Given the description of an element on the screen output the (x, y) to click on. 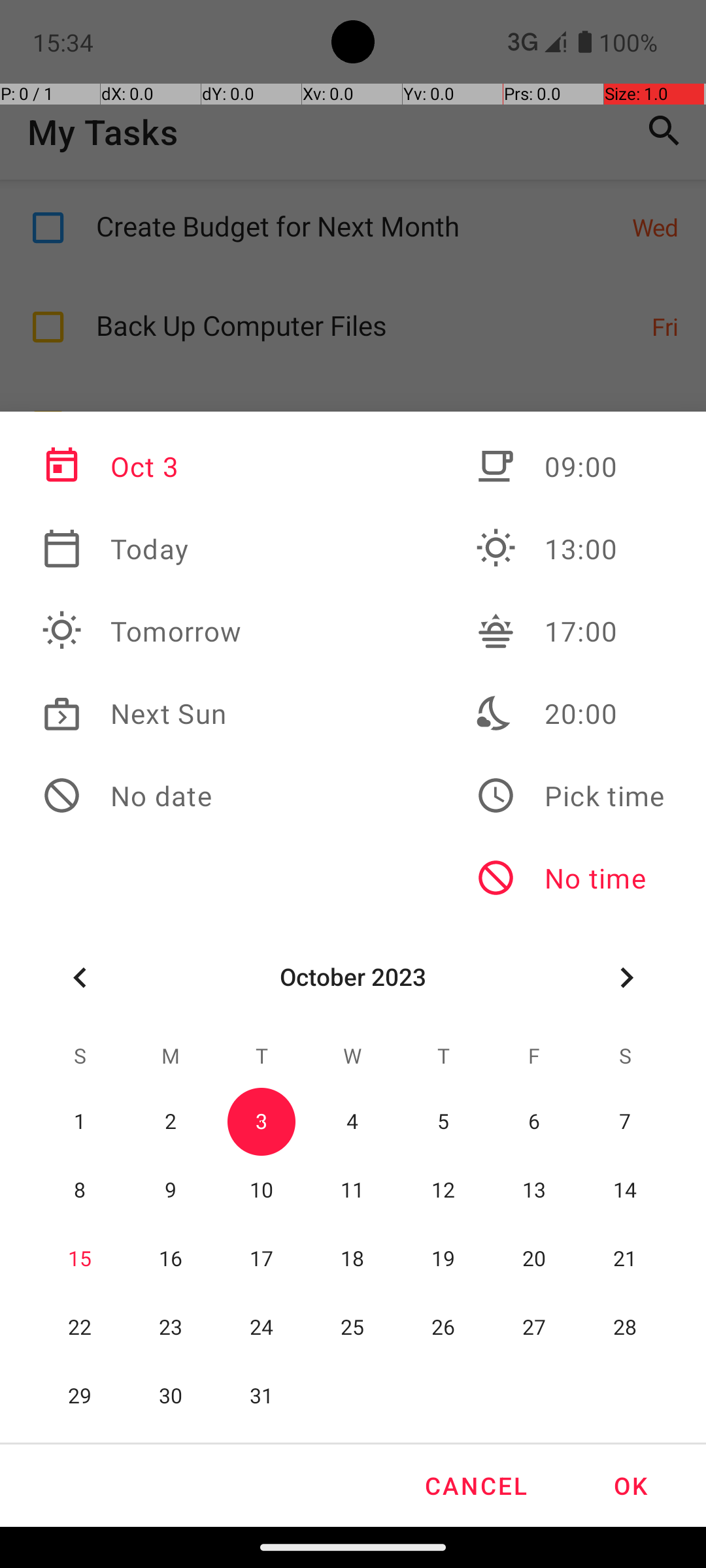
Oct 3 Element type: android.widget.CompoundButton (141, 466)
